Given the description of an element on the screen output the (x, y) to click on. 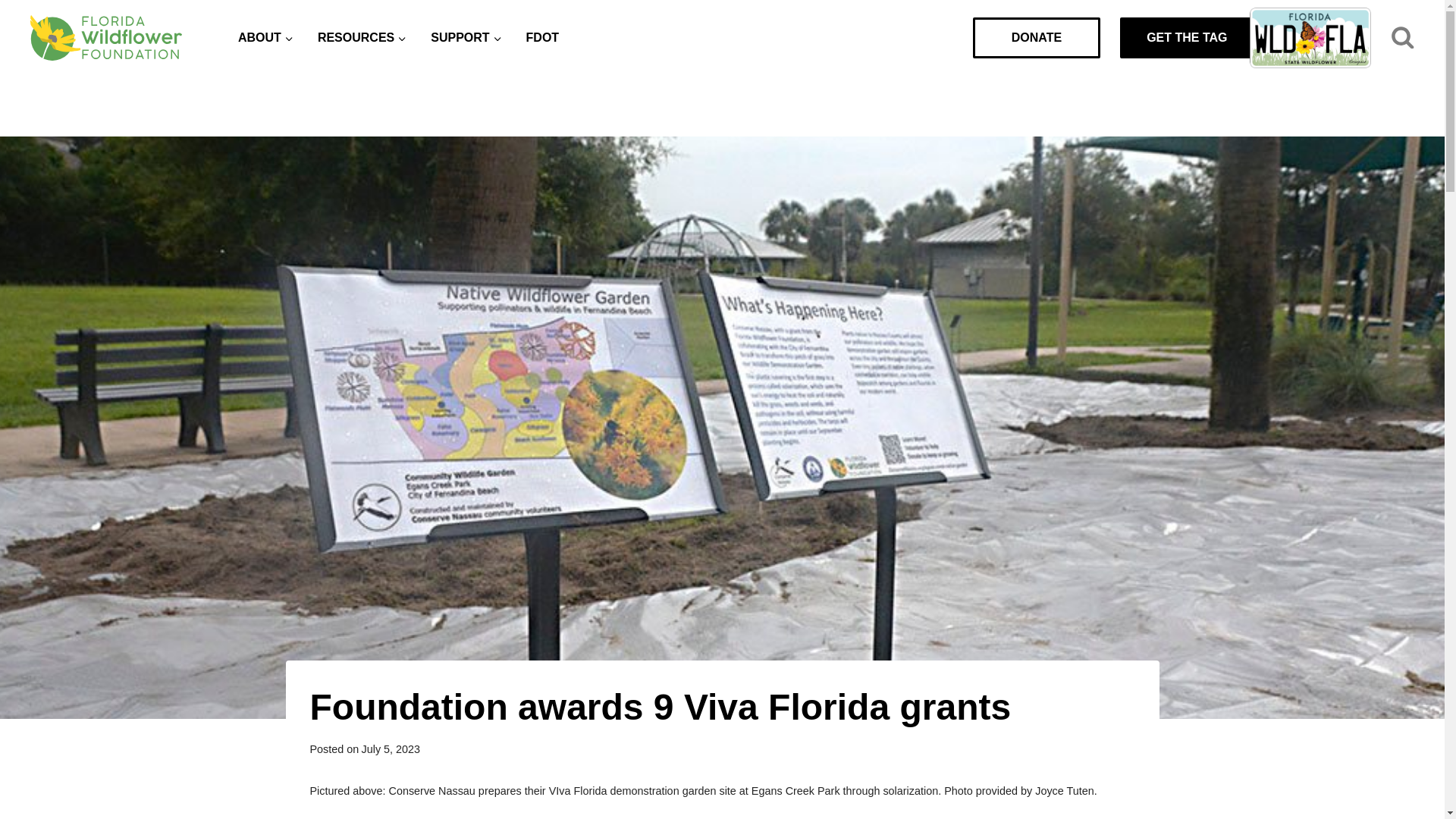
SUPPORT (466, 38)
RESOURCES (362, 38)
DONATE (1036, 37)
ABOUT (265, 38)
GET THE TAG (1222, 37)
